Given the description of an element on the screen output the (x, y) to click on. 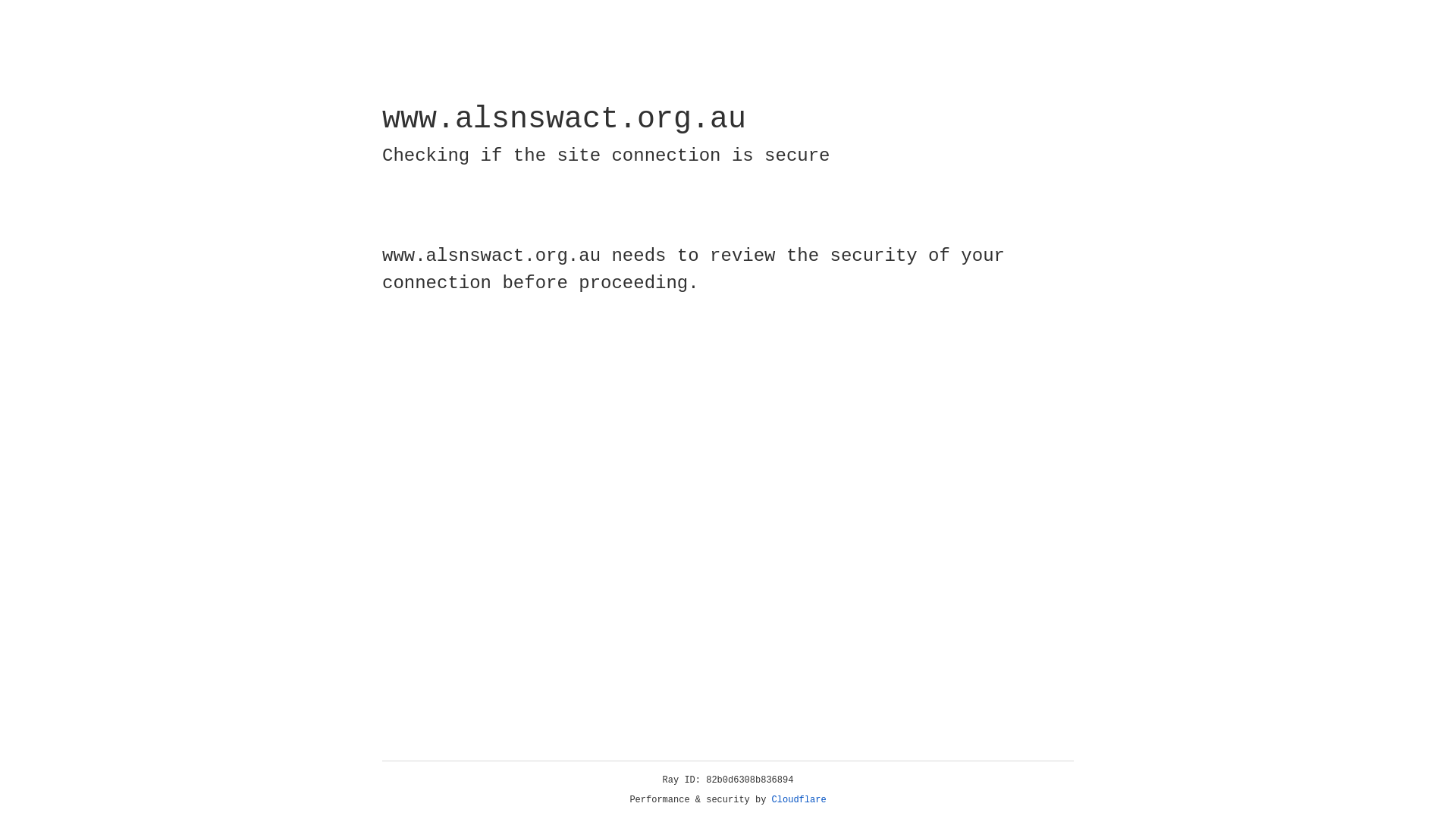
Cloudflare Element type: text (798, 799)
